Given the description of an element on the screen output the (x, y) to click on. 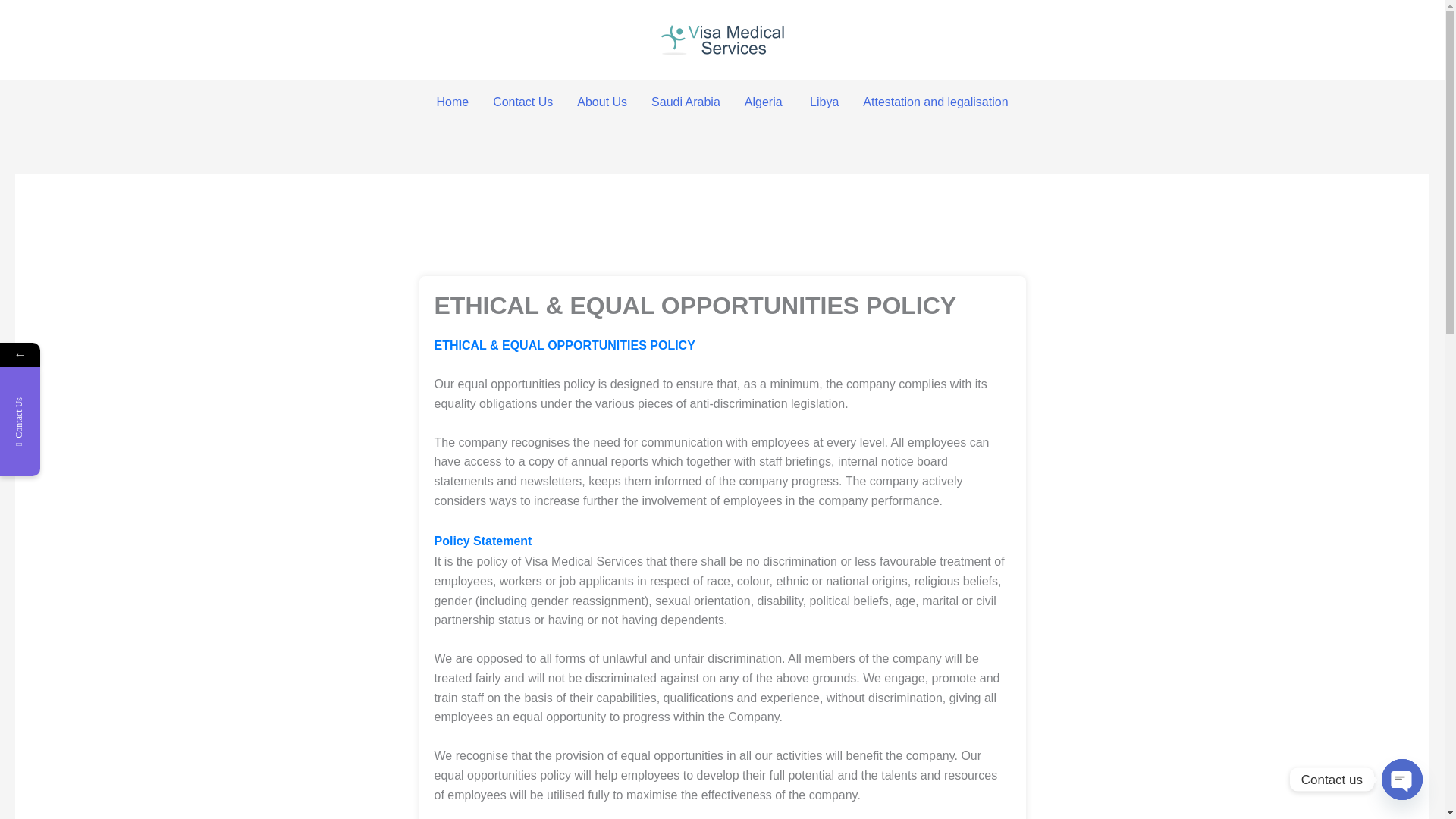
Libya (823, 102)
Home (451, 102)
Algeria  (764, 102)
Attestation and legalisation (935, 102)
Contact Us (522, 102)
Saudi Arabia (685, 102)
About Us (601, 102)
Submit (196, 654)
